Given the description of an element on the screen output the (x, y) to click on. 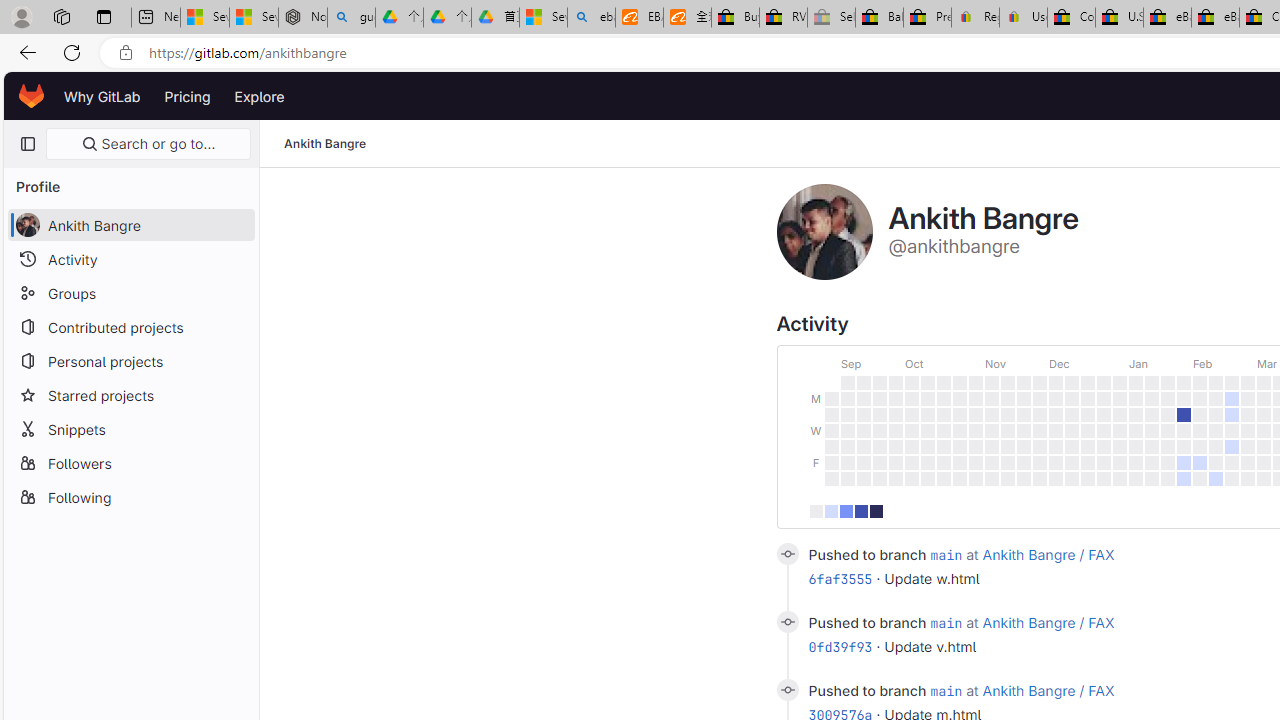
U.S. State Privacy Disclosures - eBay Inc. (1119, 17)
avatar Ankith Bangre (130, 224)
Pricing (187, 95)
Activity (130, 259)
